Given the description of an element on the screen output the (x, y) to click on. 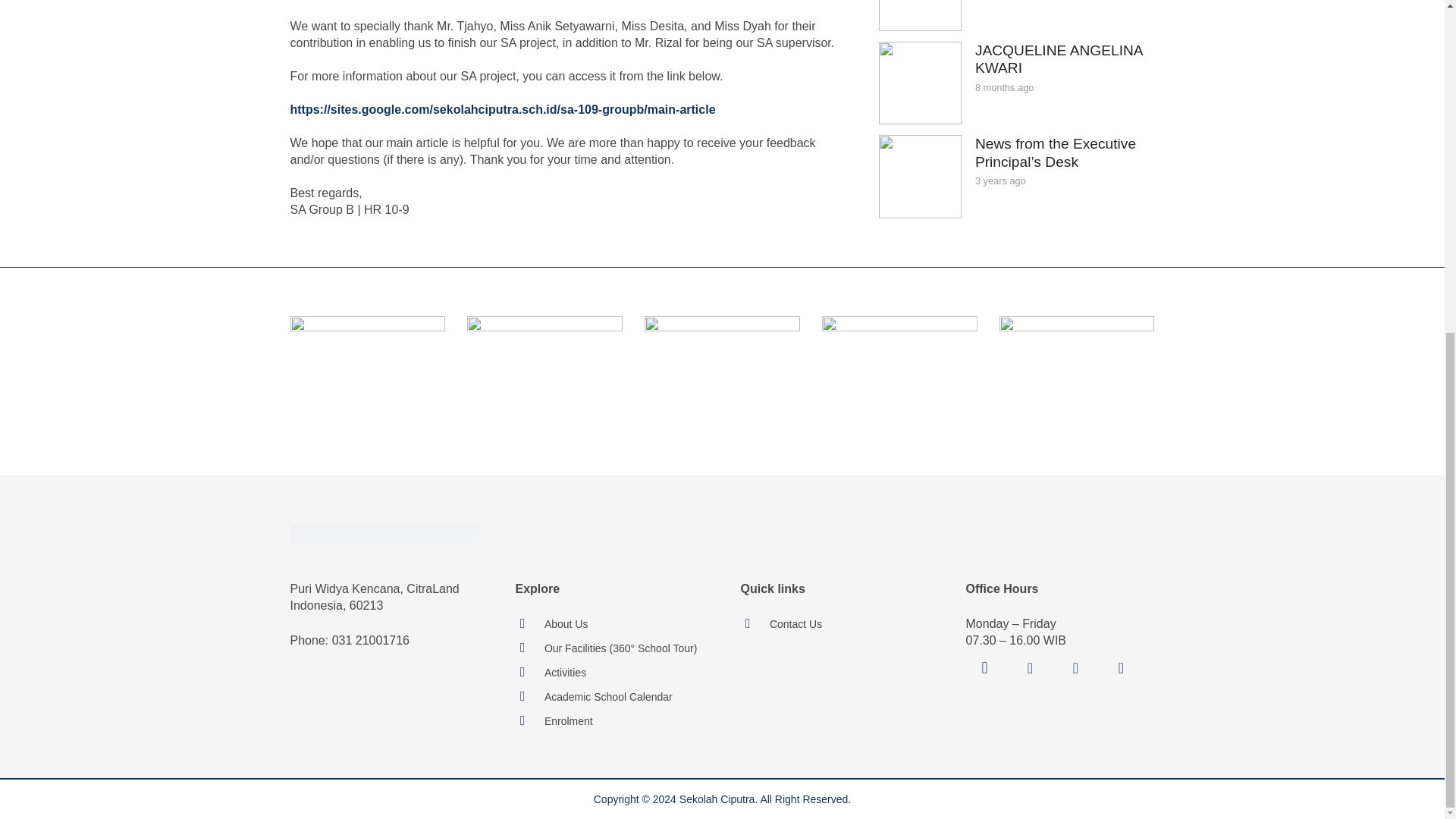
Instagram (985, 668)
YouTube (1075, 668)
Facebook (1030, 668)
LinkedIn (1121, 668)
